Given the description of an element on the screen output the (x, y) to click on. 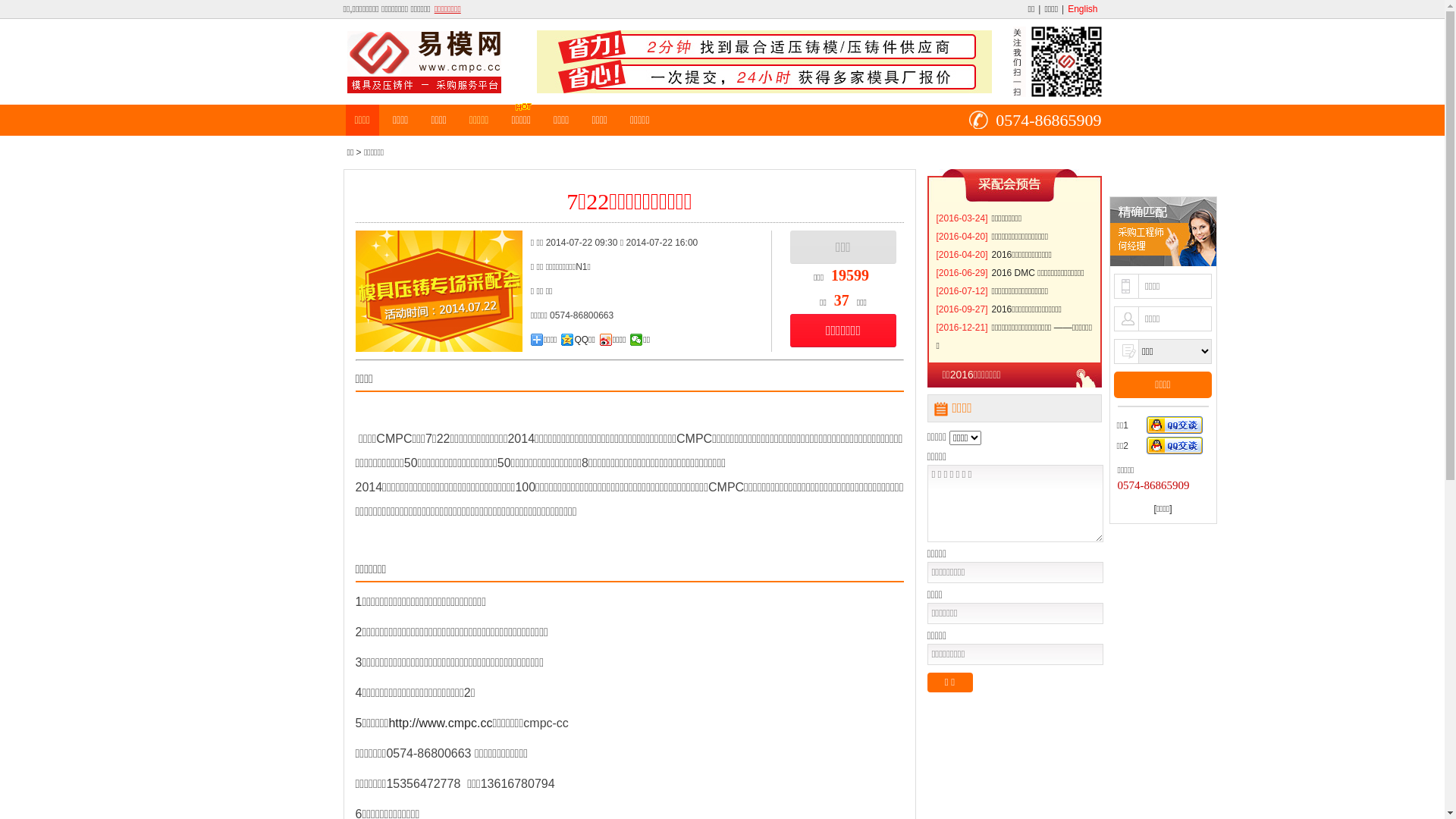
English Element type: text (1082, 8)
http://www.cmpc.cc Element type: text (440, 723)
